Given the description of an element on the screen output the (x, y) to click on. 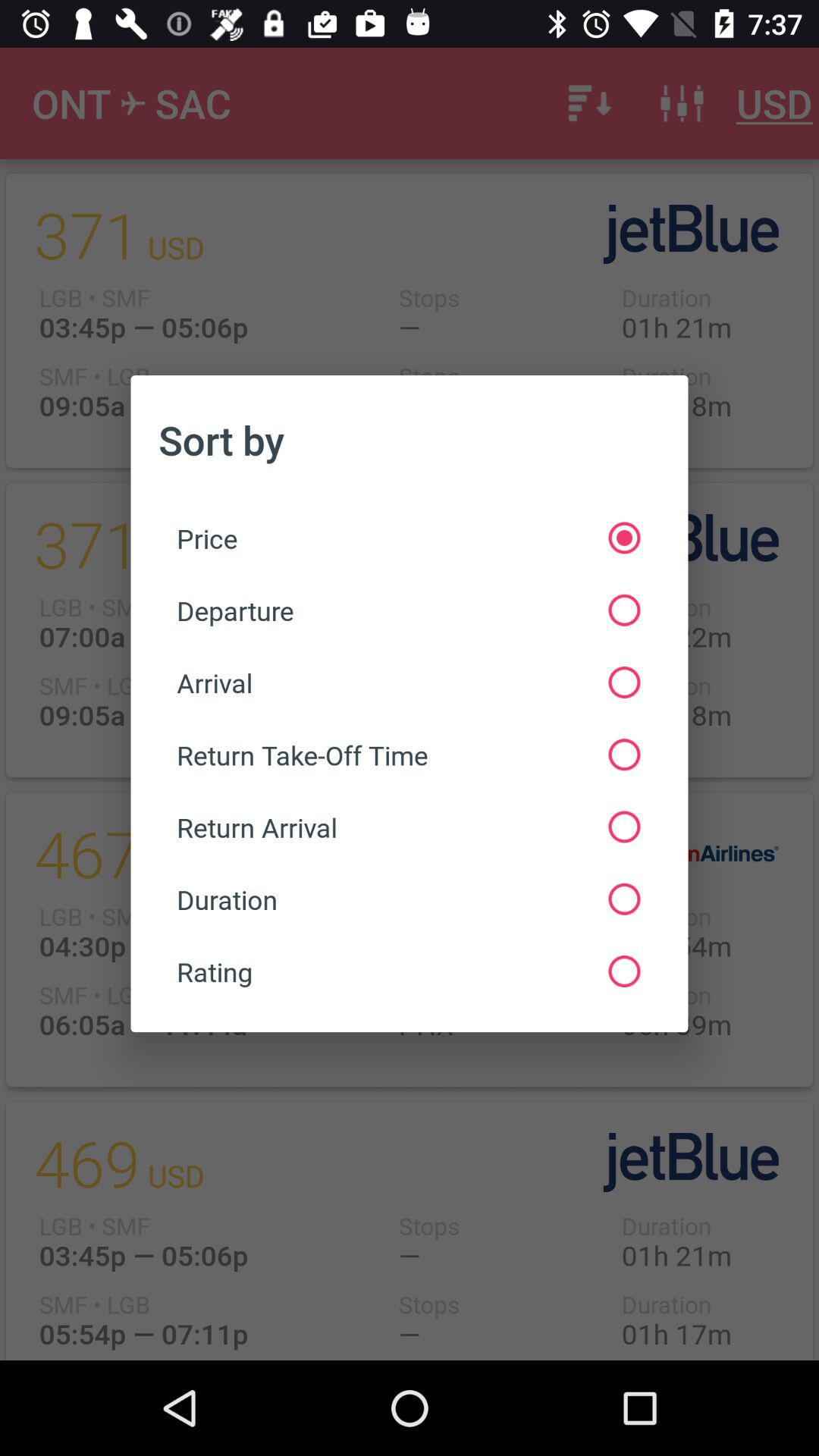
launch the item below arrival icon (408, 754)
